Given the description of an element on the screen output the (x, y) to click on. 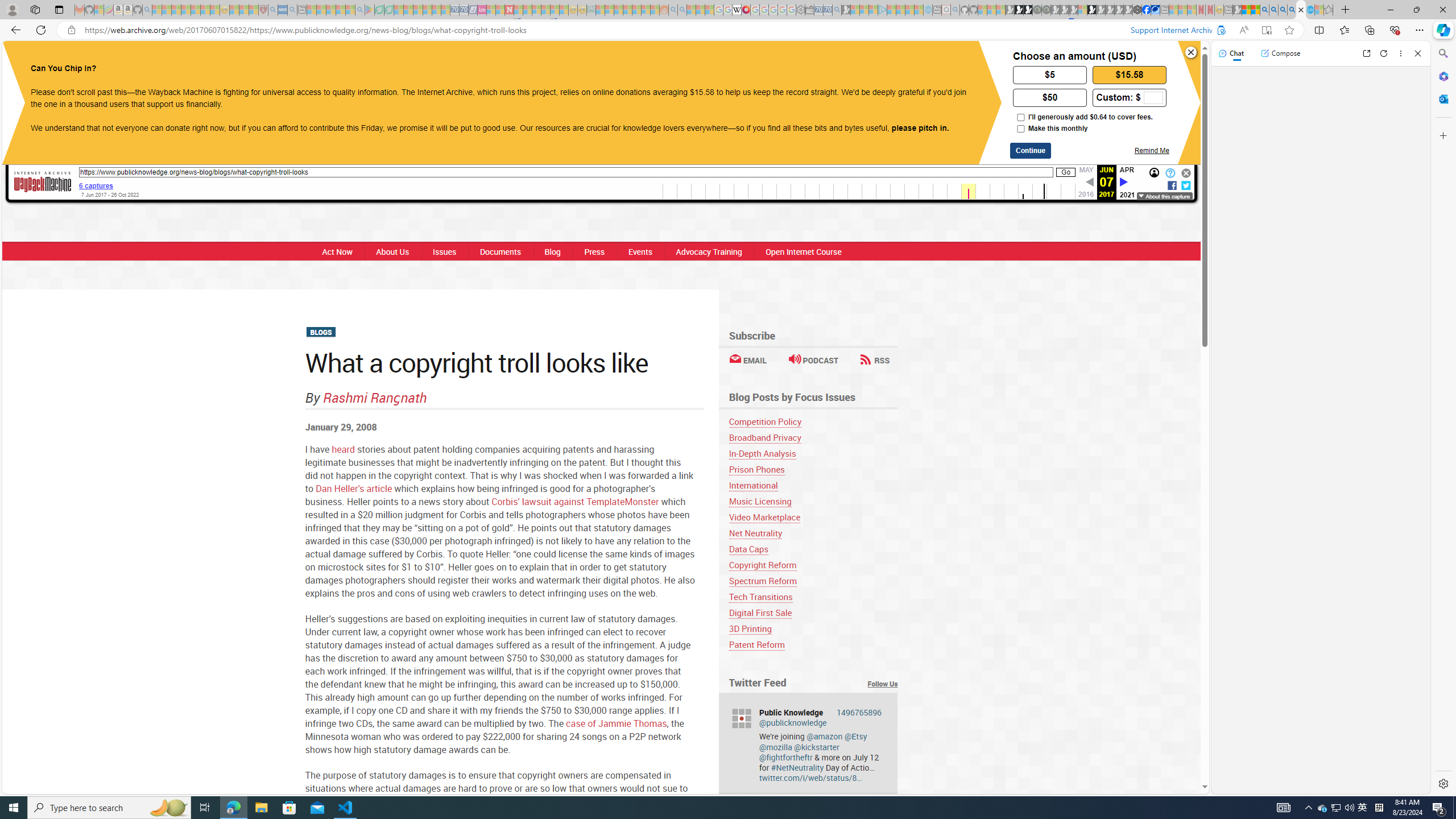
Wayback Machine (42, 181)
Broadband Privacy (764, 437)
6 captures (95, 185)
RSS (874, 360)
Nordace | Facebook (1146, 9)
Bluey: Let's Play! - Apps on Google Play - Sleeping (369, 9)
Net Neutrality (813, 532)
Open Internet Course (803, 251)
Settings - Sleeping (799, 9)
Competition Policy (765, 421)
